Given the description of an element on the screen output the (x, y) to click on. 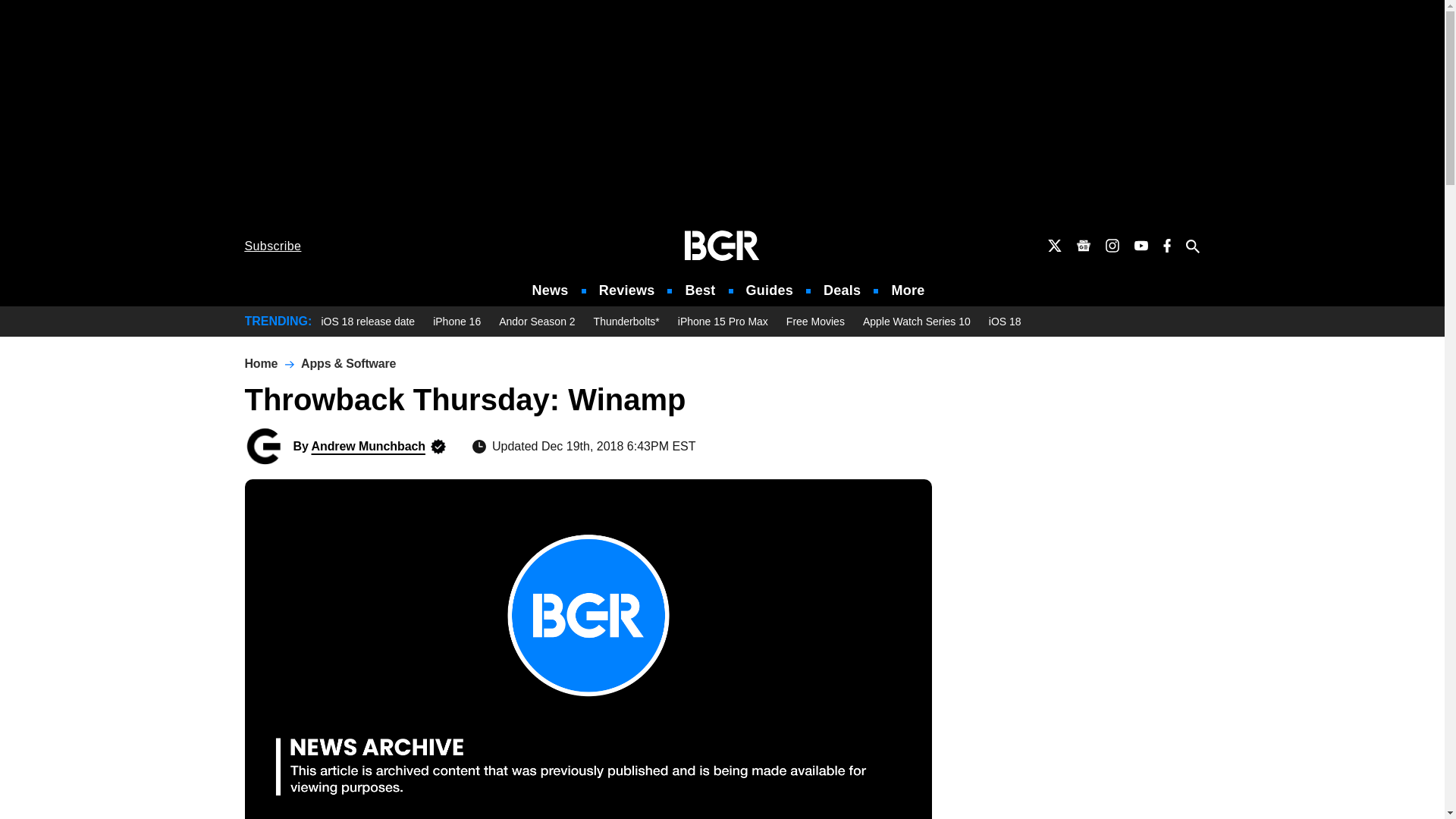
News (550, 290)
More (907, 290)
Subscribe (272, 245)
Deals (842, 290)
Reviews (626, 290)
Guides (769, 290)
Posts by Andrew Munchbach (368, 445)
Best (699, 290)
